Given the description of an element on the screen output the (x, y) to click on. 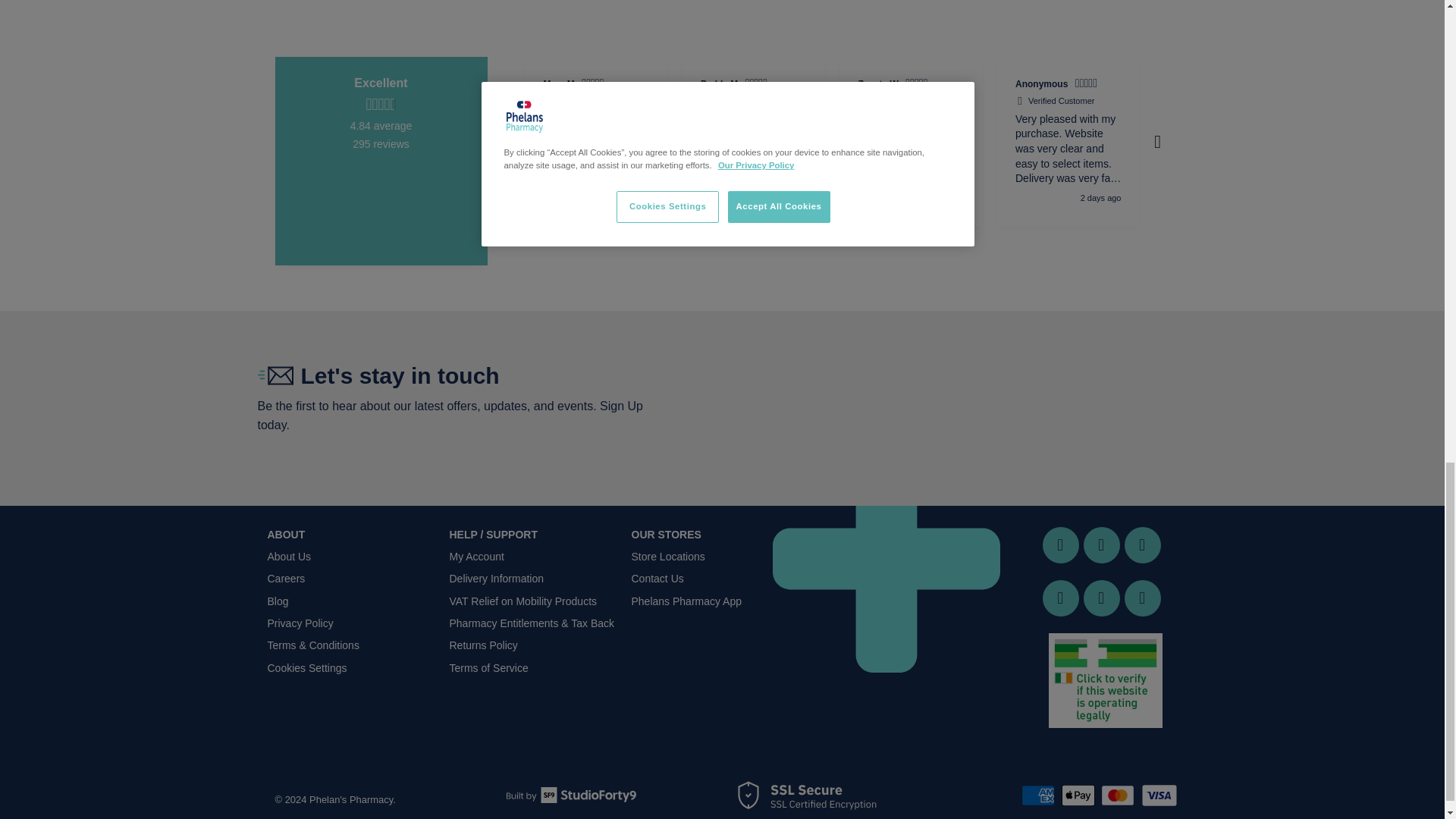
5 Stars (1231, 84)
5 Stars (1087, 84)
5 Stars (593, 84)
4.84 Stars (380, 104)
Visa (1158, 794)
Apple Pay (1079, 794)
Mastercard (1118, 794)
5 Stars (918, 84)
American Express (1040, 794)
5 Stars (758, 84)
